Given the description of an element on the screen output the (x, y) to click on. 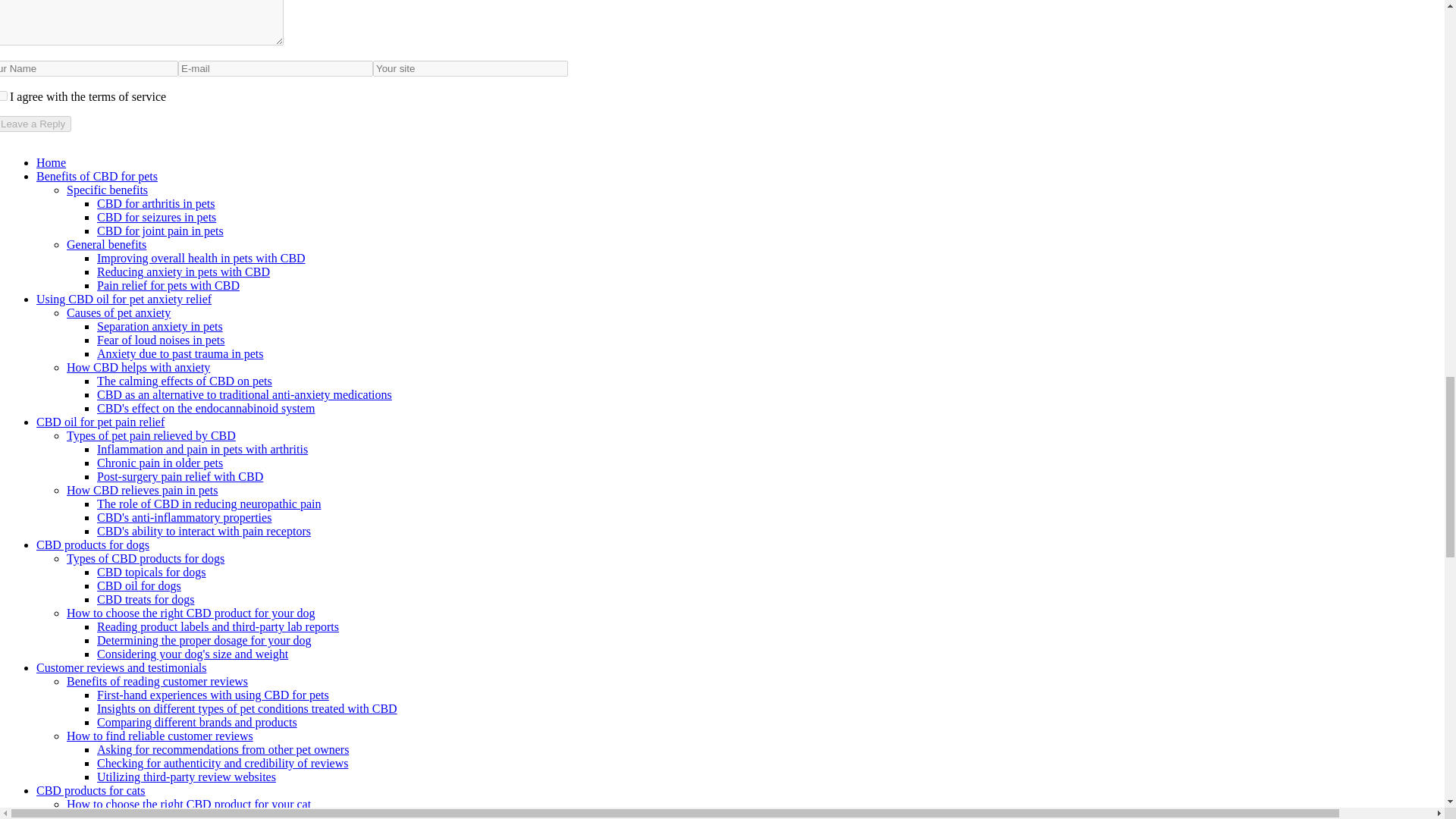
Leave a Reply (35, 123)
